Given the description of an element on the screen output the (x, y) to click on. 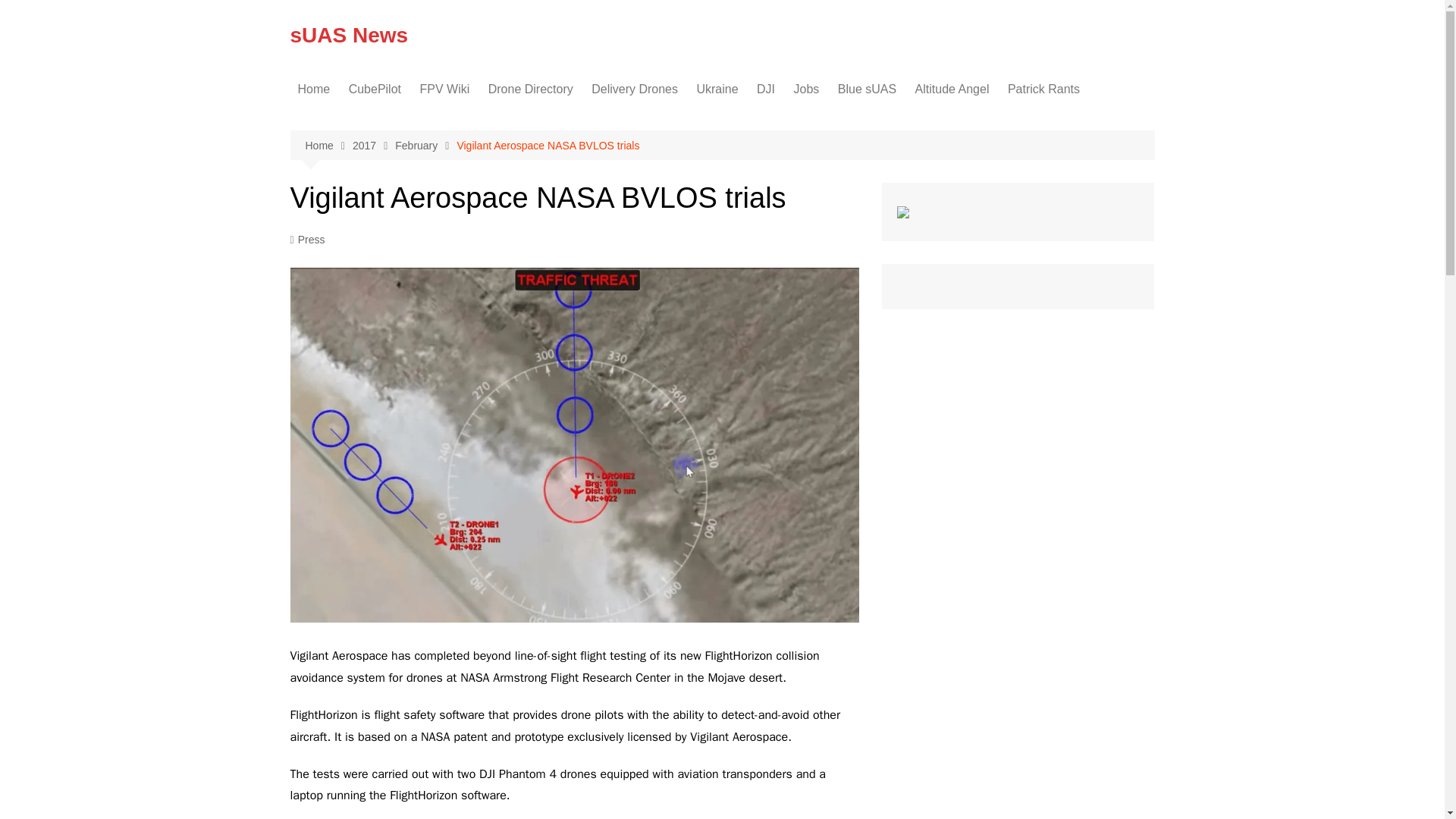
CubePilot (374, 89)
2017 (373, 145)
February (425, 145)
Jobs (806, 89)
sUAS News (348, 34)
Drone Directory (530, 89)
Altitude Angel (952, 89)
Delivery Drones (634, 89)
DJI (766, 89)
Home (328, 145)
FPV Wiki (444, 89)
Patrick Rants (1043, 89)
Ukraine (716, 89)
Vigilant Aerospace NASA BVLOS trials (548, 145)
Blue sUAS (866, 89)
